Given the description of an element on the screen output the (x, y) to click on. 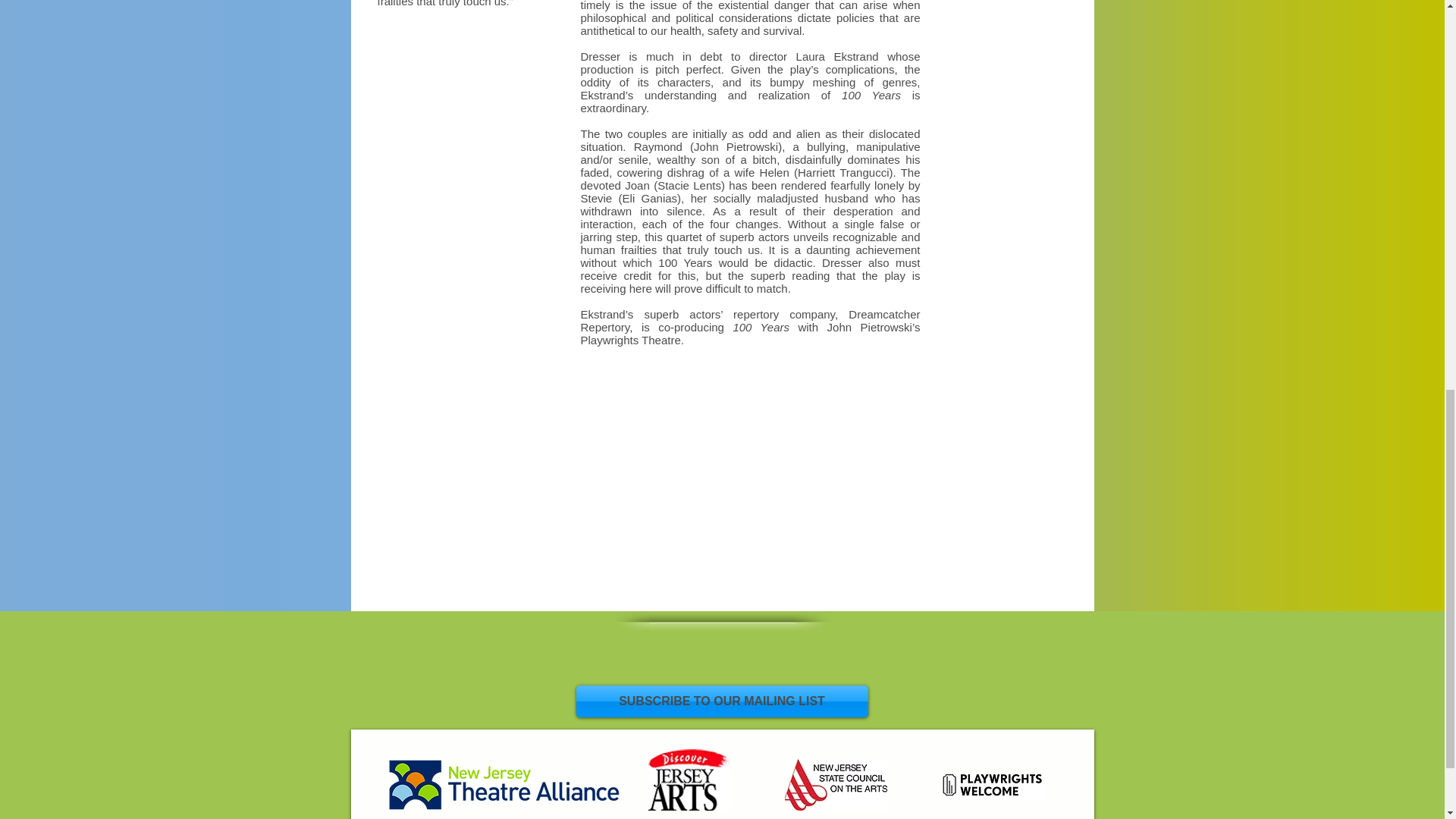
NJ State Council of the Arts Logo (835, 784)
New Jersey Theatre Alliance Logo (504, 784)
Discover Jersey Arts Logo (688, 779)
